Given the description of an element on the screen output the (x, y) to click on. 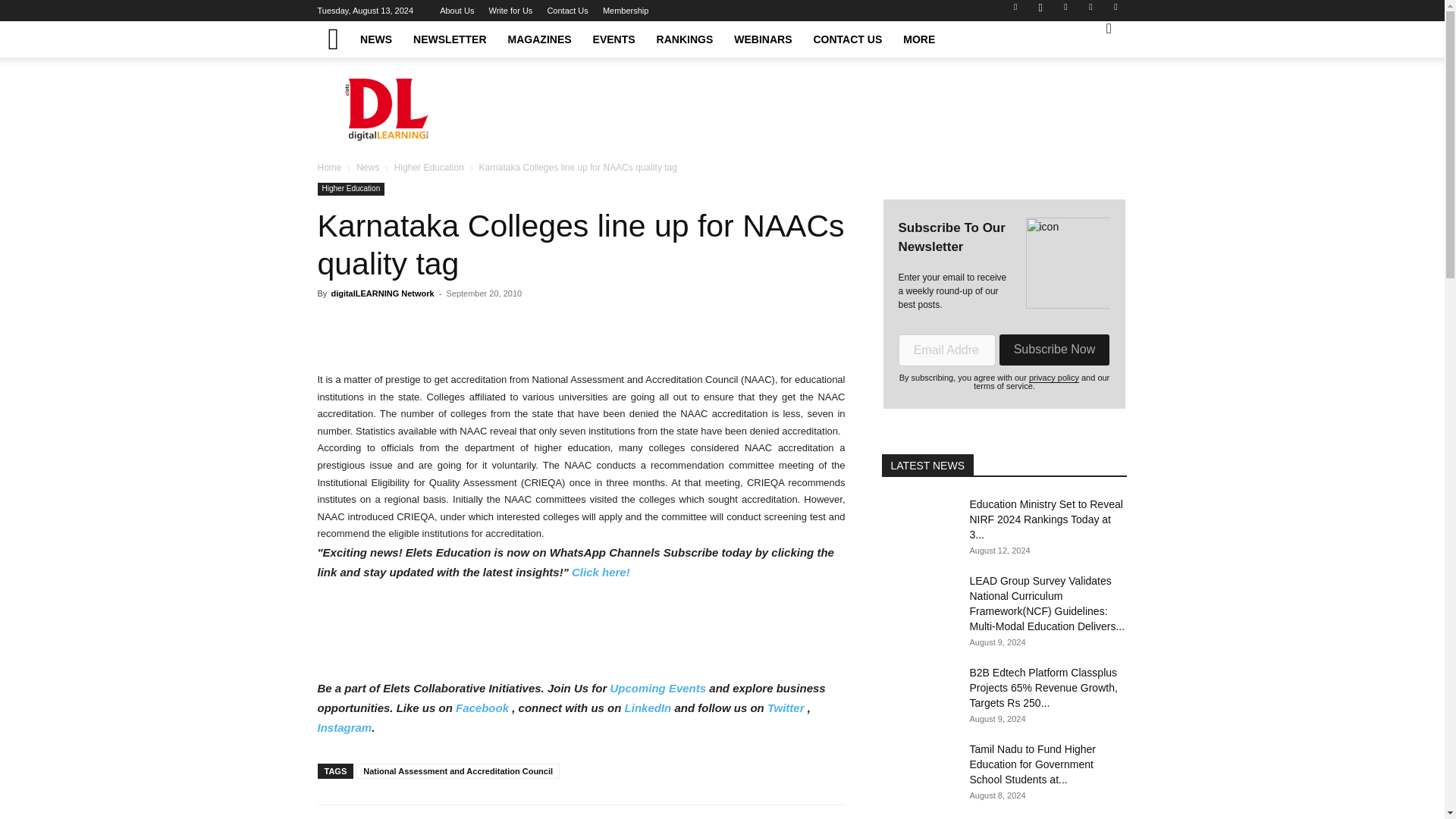
Twitter (1090, 11)
Facebook (1015, 11)
Youtube (1114, 11)
Subscribe Now (1053, 349)
Linkedin (1065, 11)
Instagram (1040, 11)
